Given the description of an element on the screen output the (x, y) to click on. 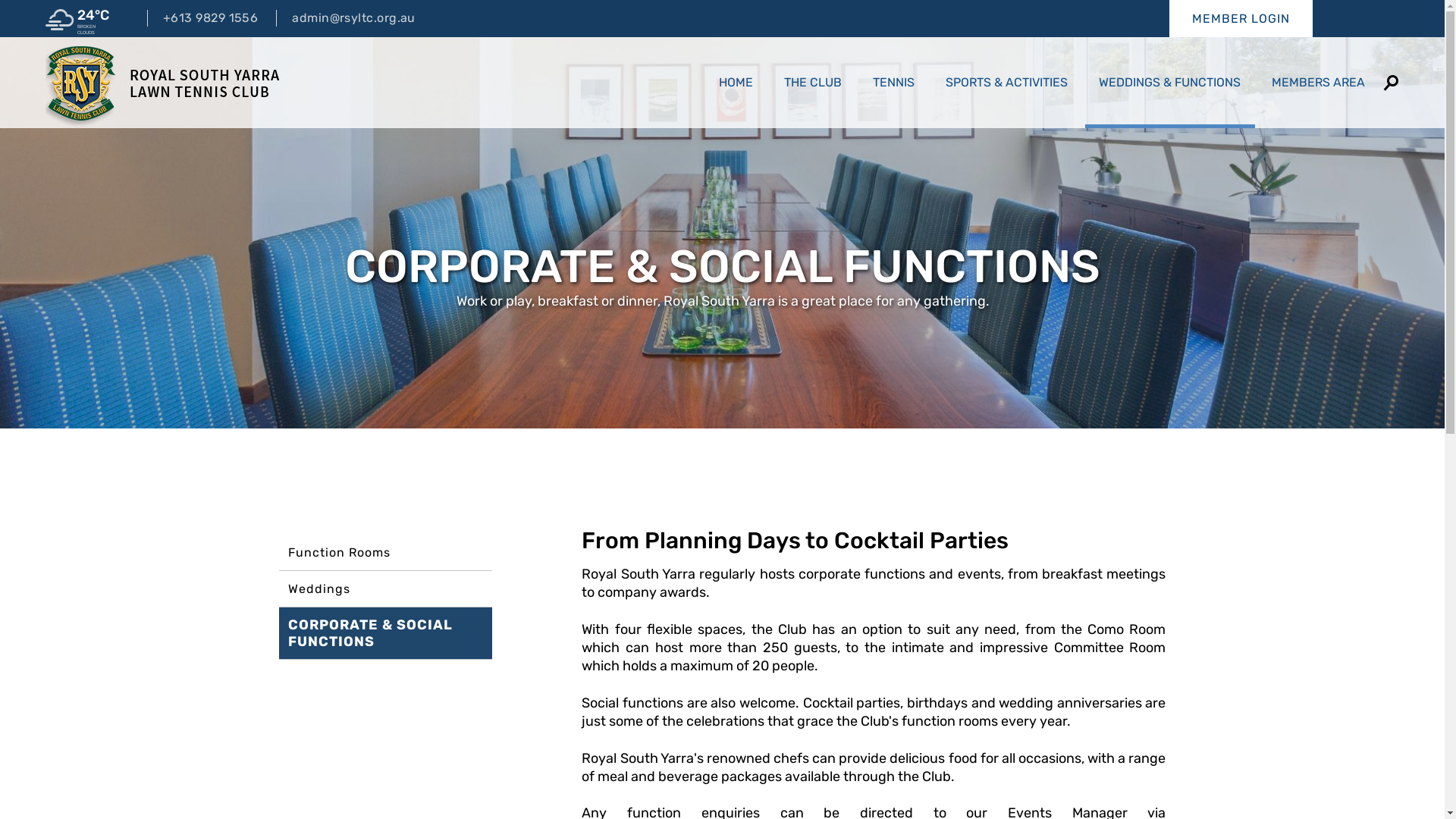
Weddings Element type: text (385, 588)
SEARCH Element type: text (1390, 83)
THE CLUB Element type: text (813, 82)
admin@rsyltc.org.au Element type: text (345, 17)
MEMBER LOGIN Element type: text (1240, 18)
WEDDINGS & FUNCTIONS Element type: text (1169, 82)
CORPORATE & SOCIAL FUNCTIONS Element type: text (385, 632)
RSYLTC Element type: hover (162, 82)
TENNIS Element type: text (893, 82)
+613 9829 1556 Element type: text (202, 17)
SPORTS & ACTIVITIES Element type: text (1006, 82)
Function Rooms Element type: text (385, 552)
MEMBERS AREA Element type: text (1317, 82)
HOME Element type: text (736, 82)
